Given the description of an element on the screen output the (x, y) to click on. 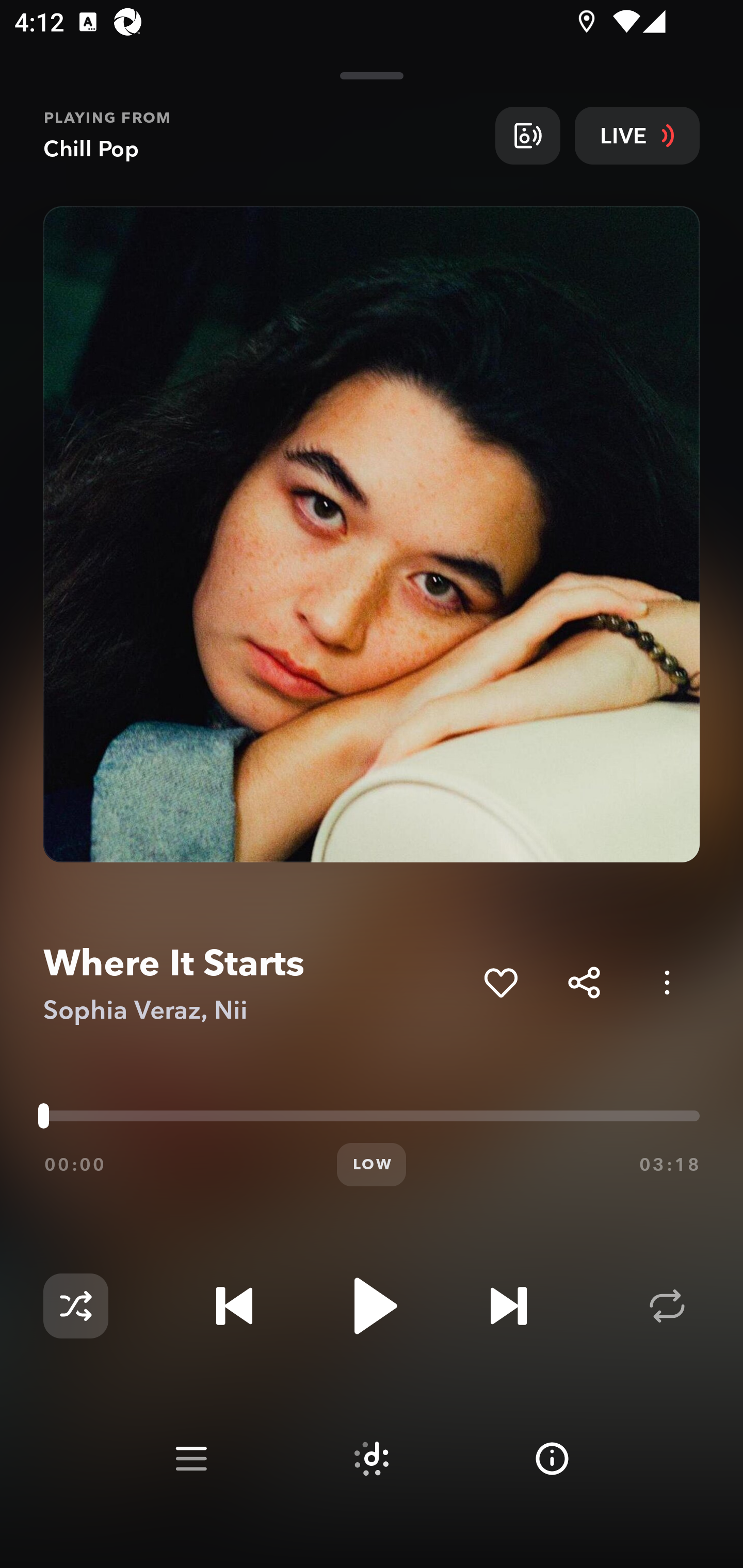
Broadcast (527, 135)
LIVE (637, 135)
PLAYING FROM Chill Pop (261, 135)
Where It Starts Sophia Veraz, Nii (255, 983)
Add to My Collection (500, 982)
Share (583, 982)
Options (666, 982)
LOW (371, 1164)
Play (371, 1306)
Previous (234, 1306)
Next (508, 1306)
Shuffle enabled (75, 1306)
Repeat Off (666, 1306)
Play queue (191, 1458)
Suggested tracks (371, 1458)
Info (551, 1458)
